Given the description of an element on the screen output the (x, y) to click on. 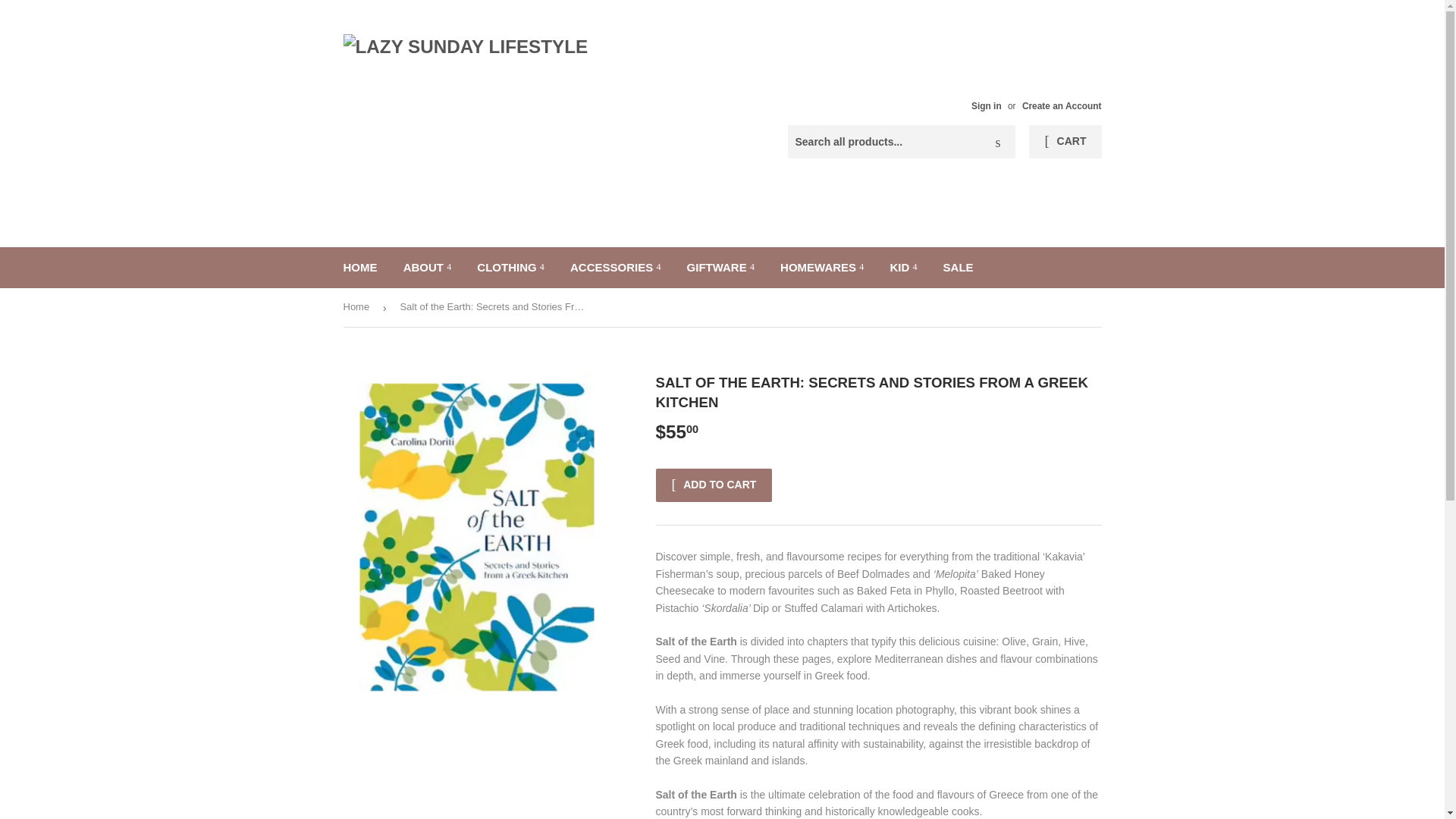
Search (997, 142)
Create an Account (1062, 105)
Sign in (986, 105)
CART (1064, 141)
